Given the description of an element on the screen output the (x, y) to click on. 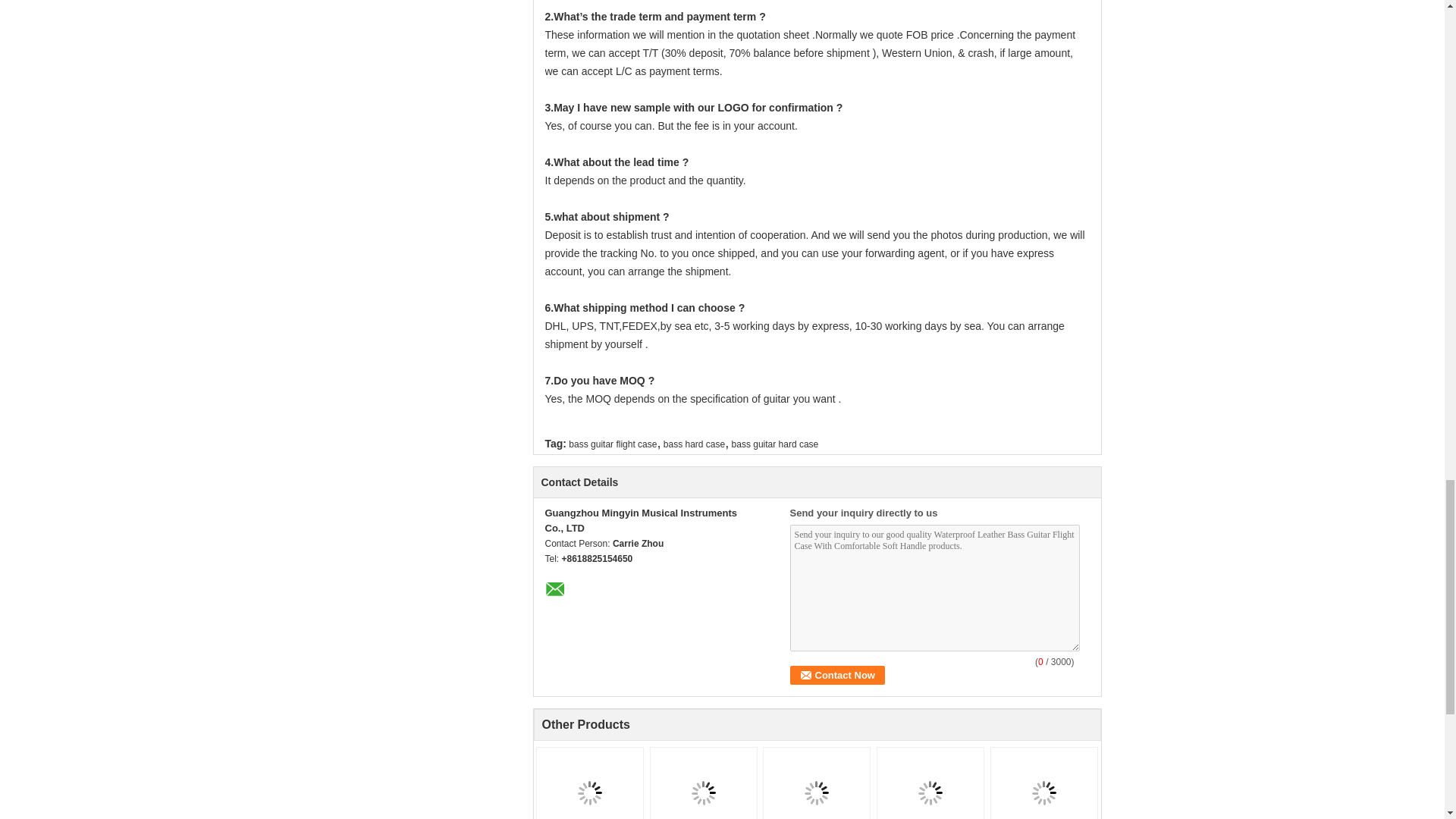
Contact Now (837, 674)
